Given the description of an element on the screen output the (x, y) to click on. 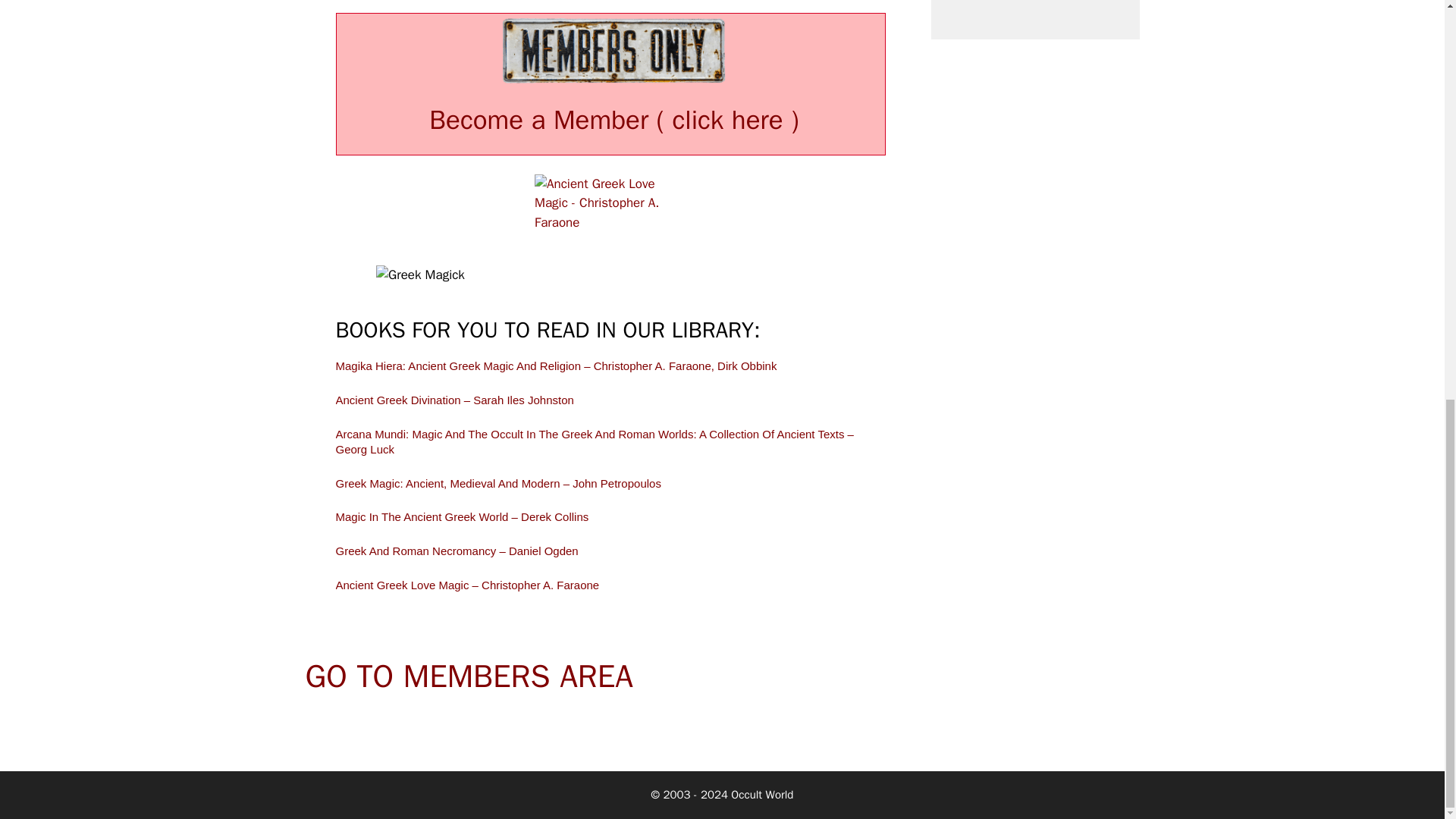
Greek Magick (609, 281)
Ancient Greek Love Magic - Christopher A. Faraone (609, 210)
